Given the description of an element on the screen output the (x, y) to click on. 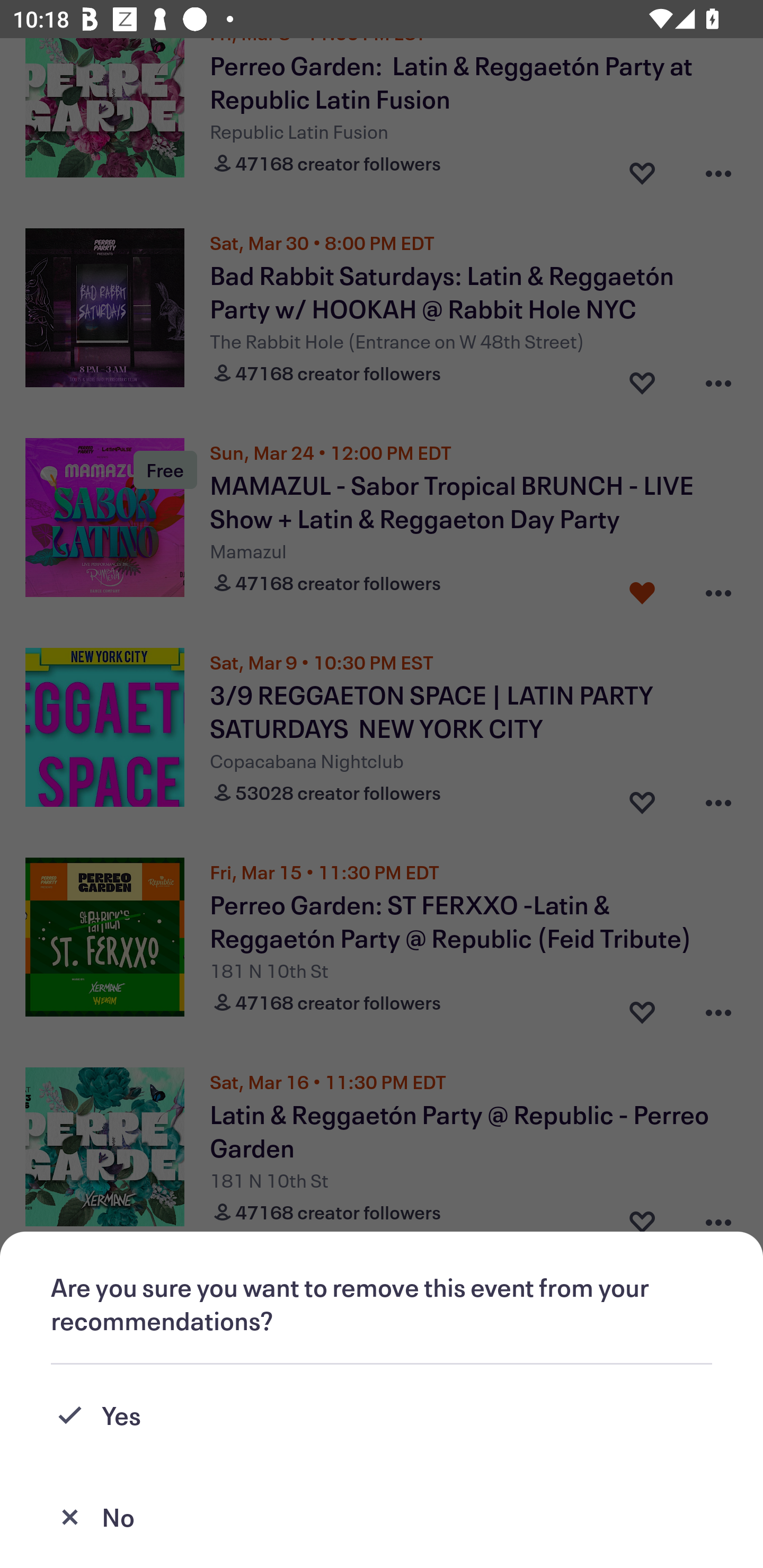
Yes (381, 1415)
No (381, 1517)
